Given the description of an element on the screen output the (x, y) to click on. 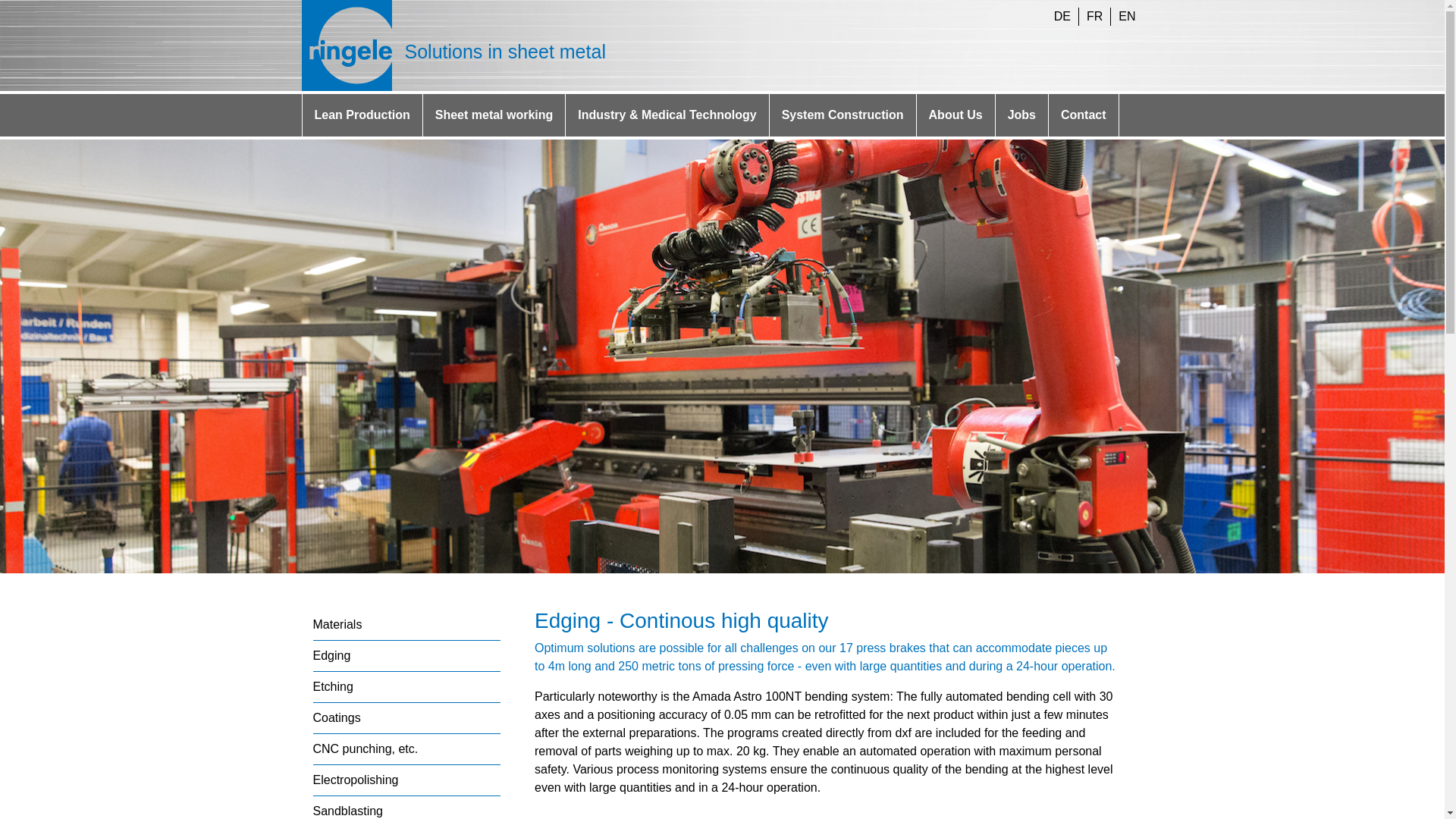
Jobs (1021, 115)
Contact (1083, 115)
Lean Production (361, 115)
Etching (332, 686)
System Construction (842, 115)
EN (1126, 15)
Coatings (336, 717)
CNC punching, etc. (365, 748)
DE (1062, 15)
About Us (955, 115)
